Given the description of an element on the screen output the (x, y) to click on. 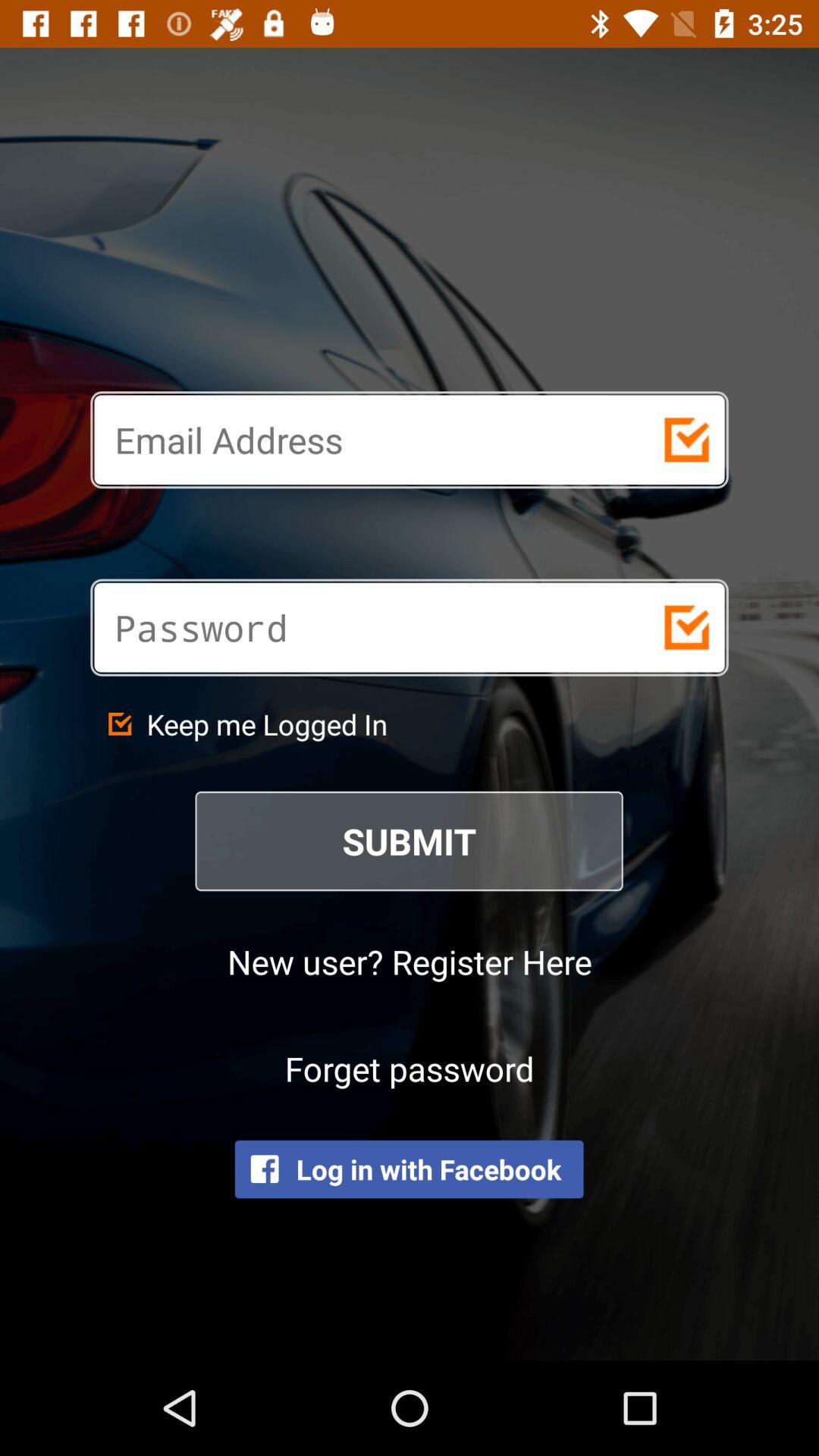
turn off the item below submit (409, 961)
